Given the description of an element on the screen output the (x, y) to click on. 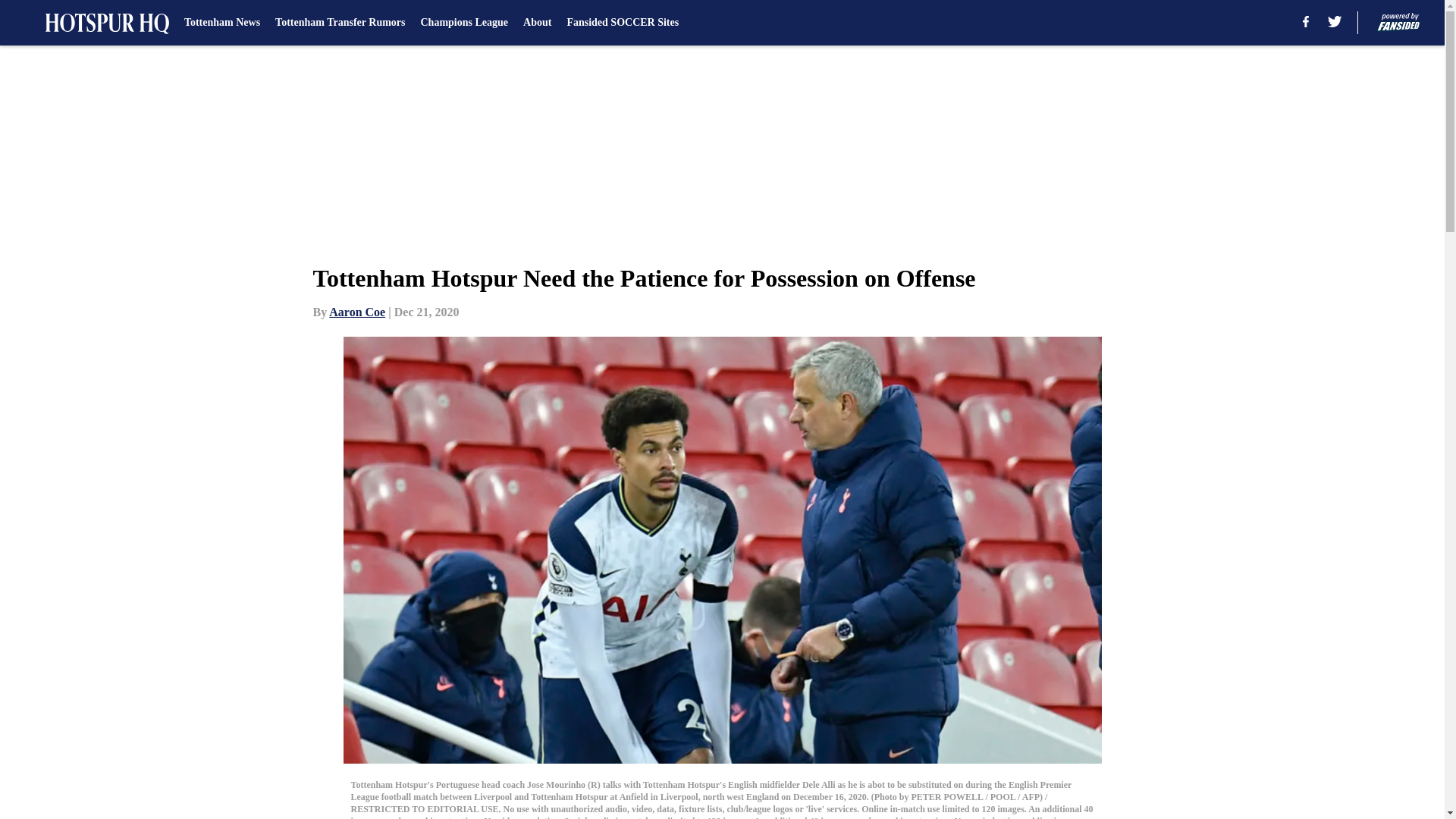
Aaron Coe (357, 311)
Champions League (464, 22)
Fansided SOCCER Sites (622, 22)
Tottenham Transfer Rumors (339, 22)
About (536, 22)
Tottenham News (222, 22)
